Given the description of an element on the screen output the (x, y) to click on. 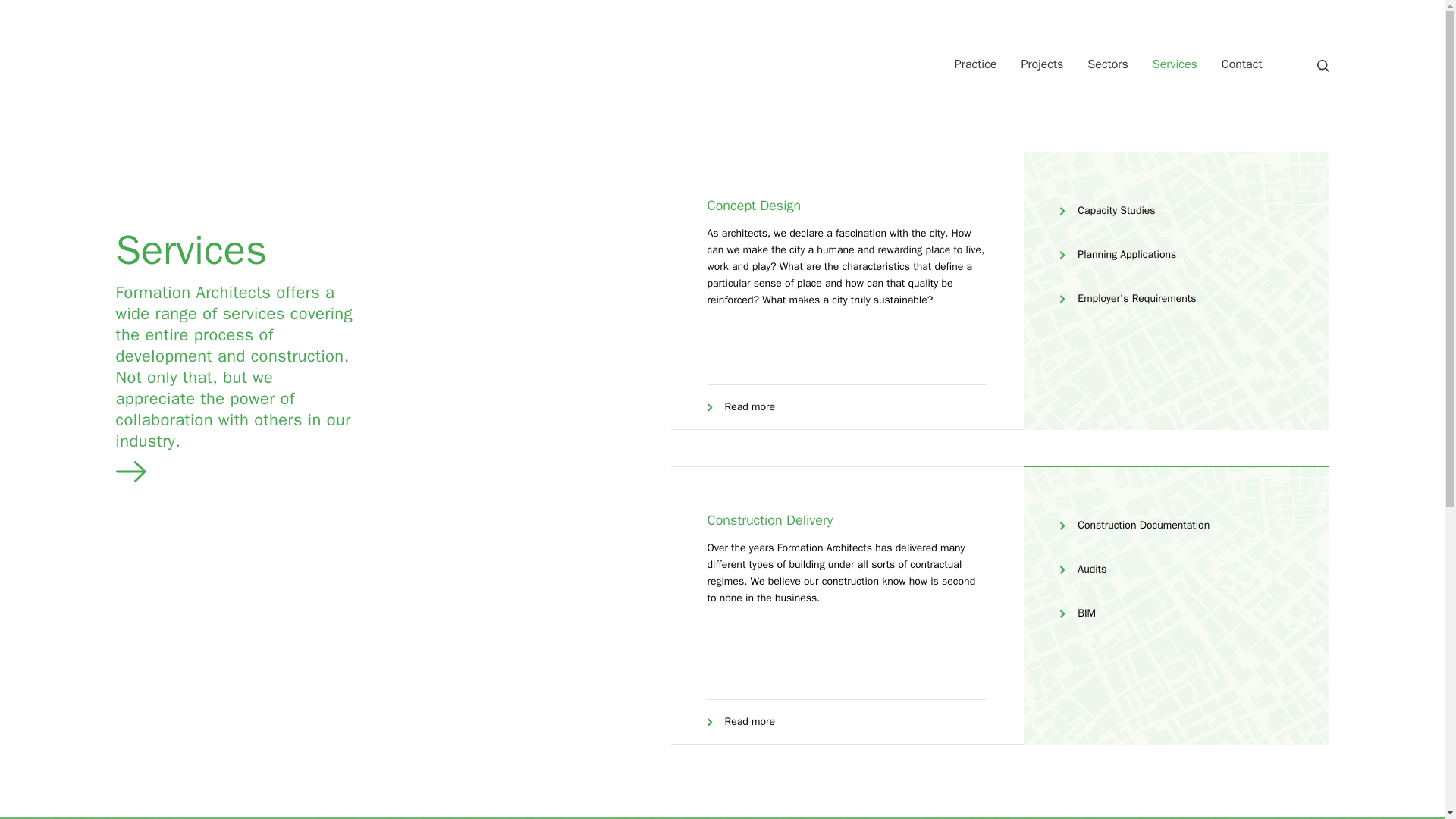
Employer's Requirements (1127, 298)
Practice (976, 63)
Sectors (1107, 63)
Projects (1041, 63)
Construction Documentation (1134, 525)
BIM (1077, 613)
Read more (740, 406)
Read more (740, 721)
Services (1175, 63)
Projects (1041, 63)
Audits (1082, 569)
Capacity Studies (1106, 210)
Contact (1241, 63)
Planning Applications (1117, 254)
